Given the description of an element on the screen output the (x, y) to click on. 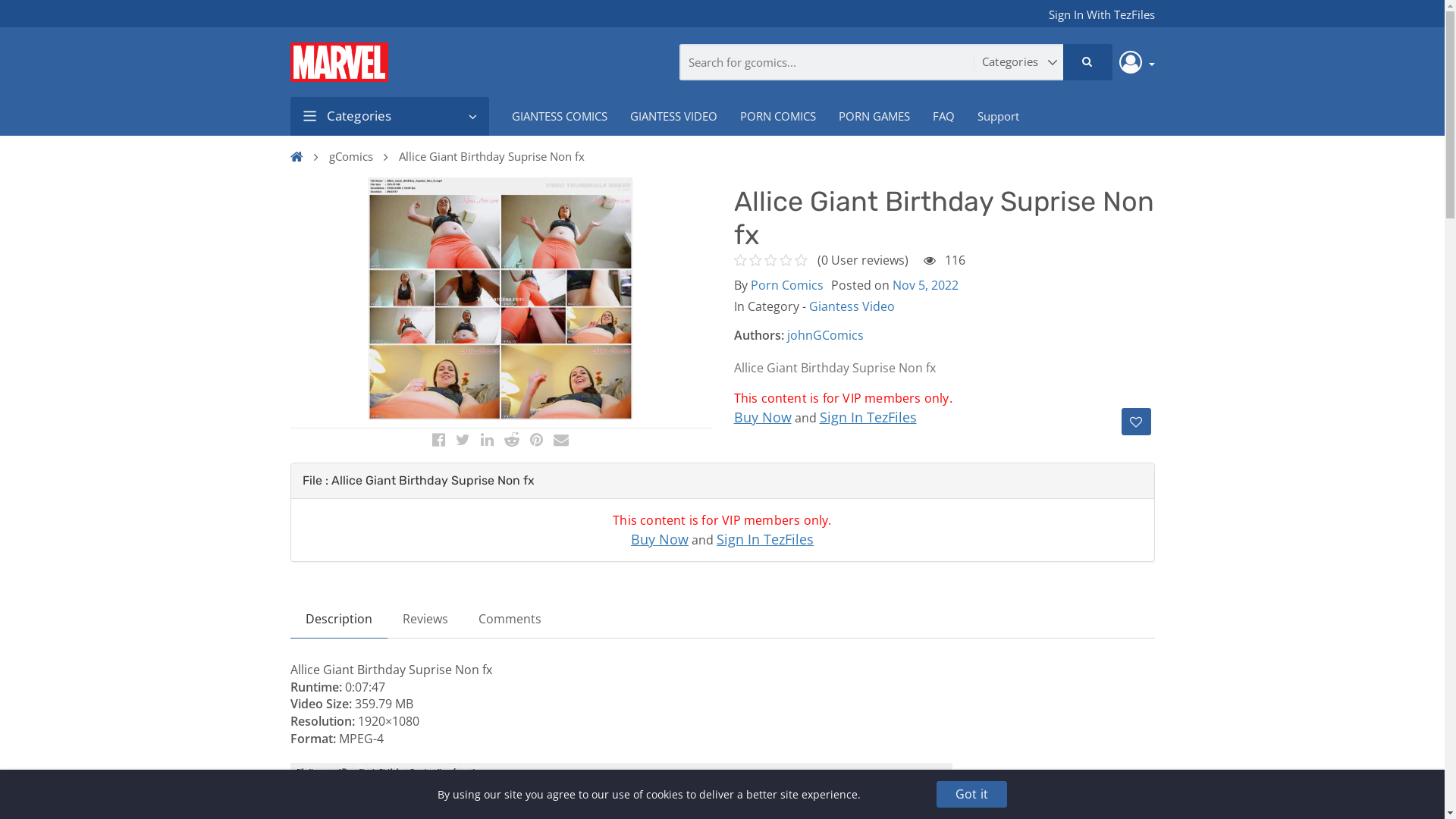
PORN COMICS Element type: text (777, 115)
Nov 5, 2022 Element type: text (924, 284)
PORN GAMES Element type: text (873, 115)
Sign In With TezFiles Element type: text (1101, 14)
Reviews Element type: text (424, 618)
Giantess Video Element type: text (851, 306)
Description Element type: text (337, 618)
Buy Now Element type: text (659, 539)
johnGComics Element type: text (825, 334)
Porn Comics Element type: text (786, 284)
GIANTESS COMICS Element type: text (559, 115)
Sign In TezFiles Element type: text (764, 539)
Support Element type: text (998, 115)
Buy Now Element type: text (762, 416)
Allice Giant Birthday Suprise Non fx Element type: text (494, 156)
Got it Element type: text (971, 794)
File : Allice Giant Birthday Suprise Non fx Element type: text (417, 480)
gComics Element type: text (353, 156)
GIANTESS VIDEO Element type: text (673, 115)
Comments Element type: text (508, 618)
FAQ Element type: text (942, 115)
Sign In TezFiles Element type: text (867, 416)
